Given the description of an element on the screen output the (x, y) to click on. 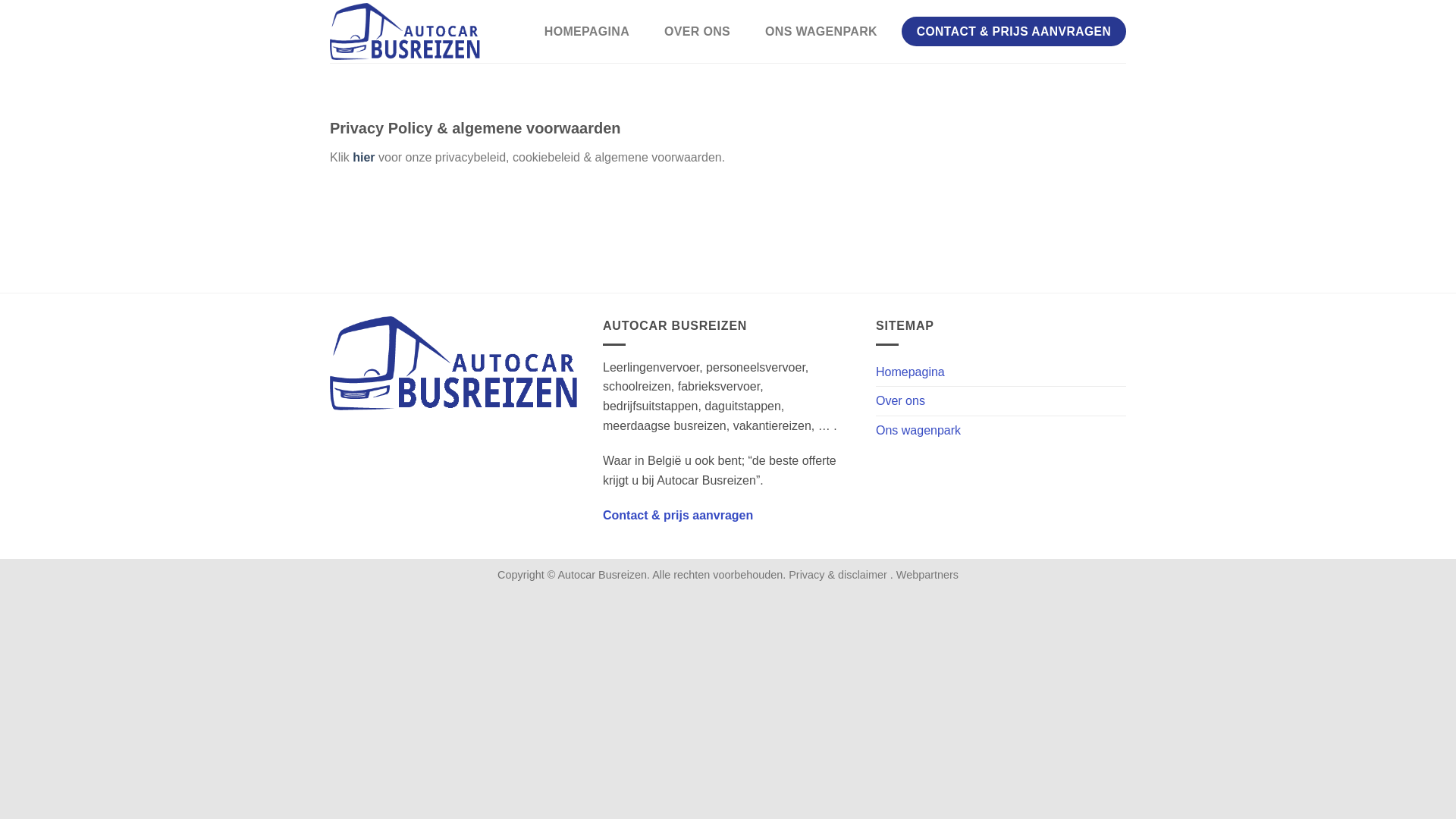
hier Element type: text (363, 156)
Over ons Element type: text (900, 400)
Privacy & disclaimer Element type: text (839, 574)
Autocars  - Busreizen Element type: hover (405, 31)
ONS WAGENPARK Element type: text (821, 31)
Webpartners Element type: text (927, 574)
Contact & prijs aanvragen Element type: text (677, 514)
OVER ONS Element type: text (696, 31)
Ons wagenpark Element type: text (917, 430)
Homepagina Element type: text (909, 371)
CONTACT & PRIJS AANVRAGEN Element type: text (1013, 31)
HOMEPAGINA Element type: text (586, 31)
